Given the description of an element on the screen output the (x, y) to click on. 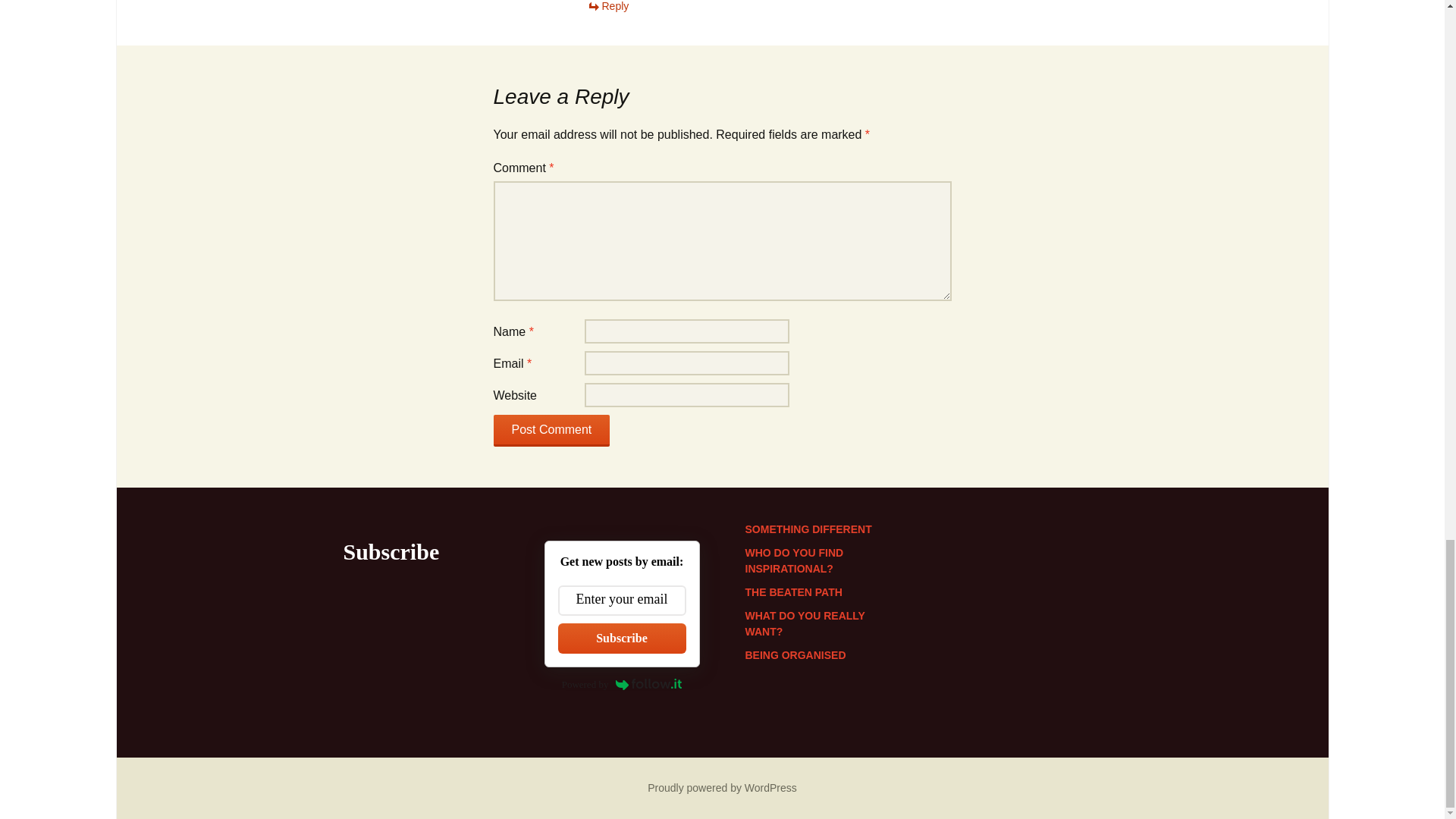
Subscribe (621, 638)
SOMETHING DIFFERENT (807, 529)
Proudly powered by WordPress (721, 787)
THE BEATEN PATH (792, 592)
Reply (607, 6)
WHAT DO YOU REALLY WANT? (804, 623)
BEING ORGANISED (794, 654)
Powered by (622, 683)
WHO DO YOU FIND INSPIRATIONAL? (793, 560)
Post Comment (551, 430)
Post Comment (551, 430)
